Given the description of an element on the screen output the (x, y) to click on. 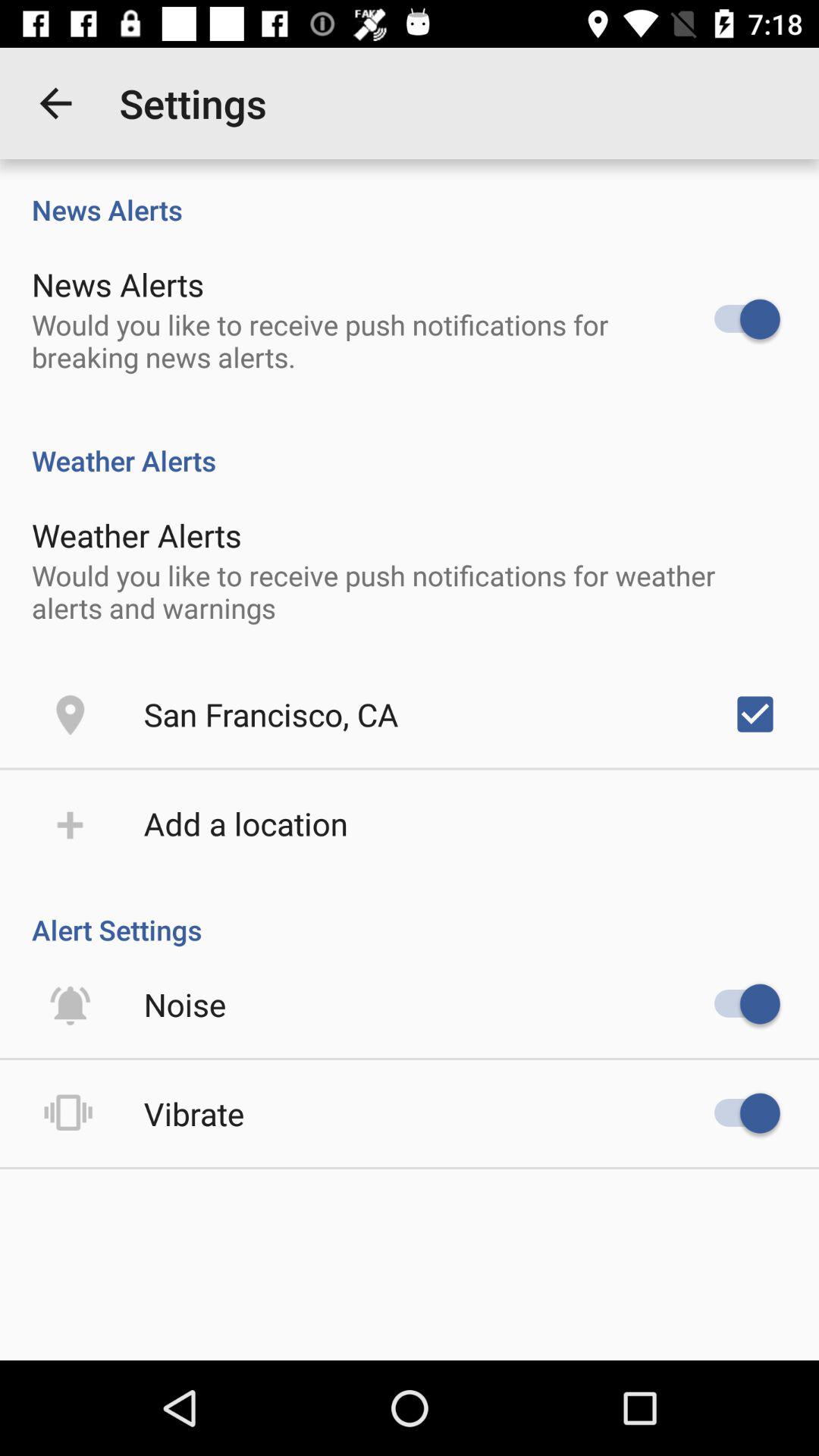
choose the icon above news alerts item (55, 103)
